Given the description of an element on the screen output the (x, y) to click on. 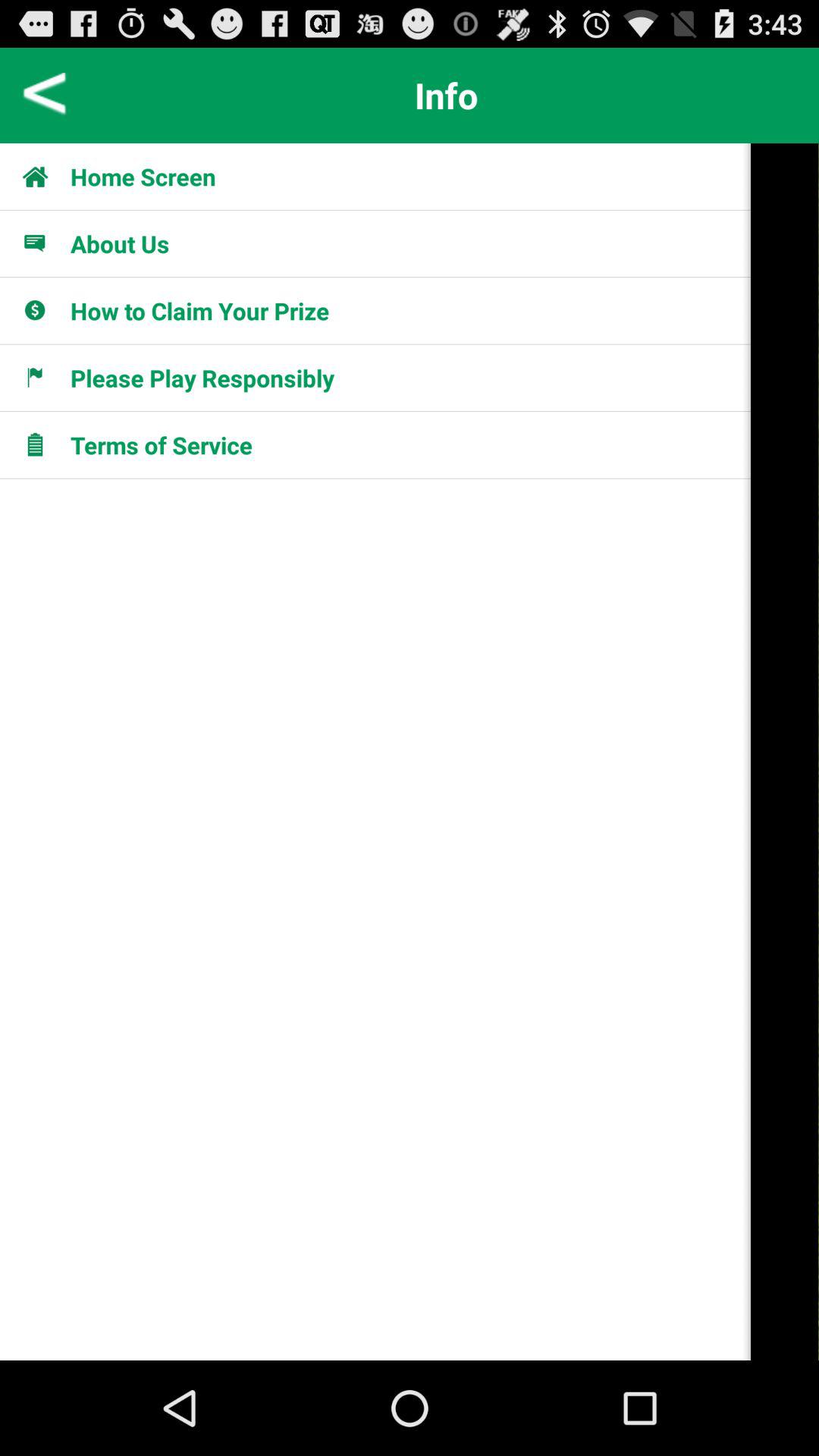
open info icon (446, 95)
